Given the description of an element on the screen output the (x, y) to click on. 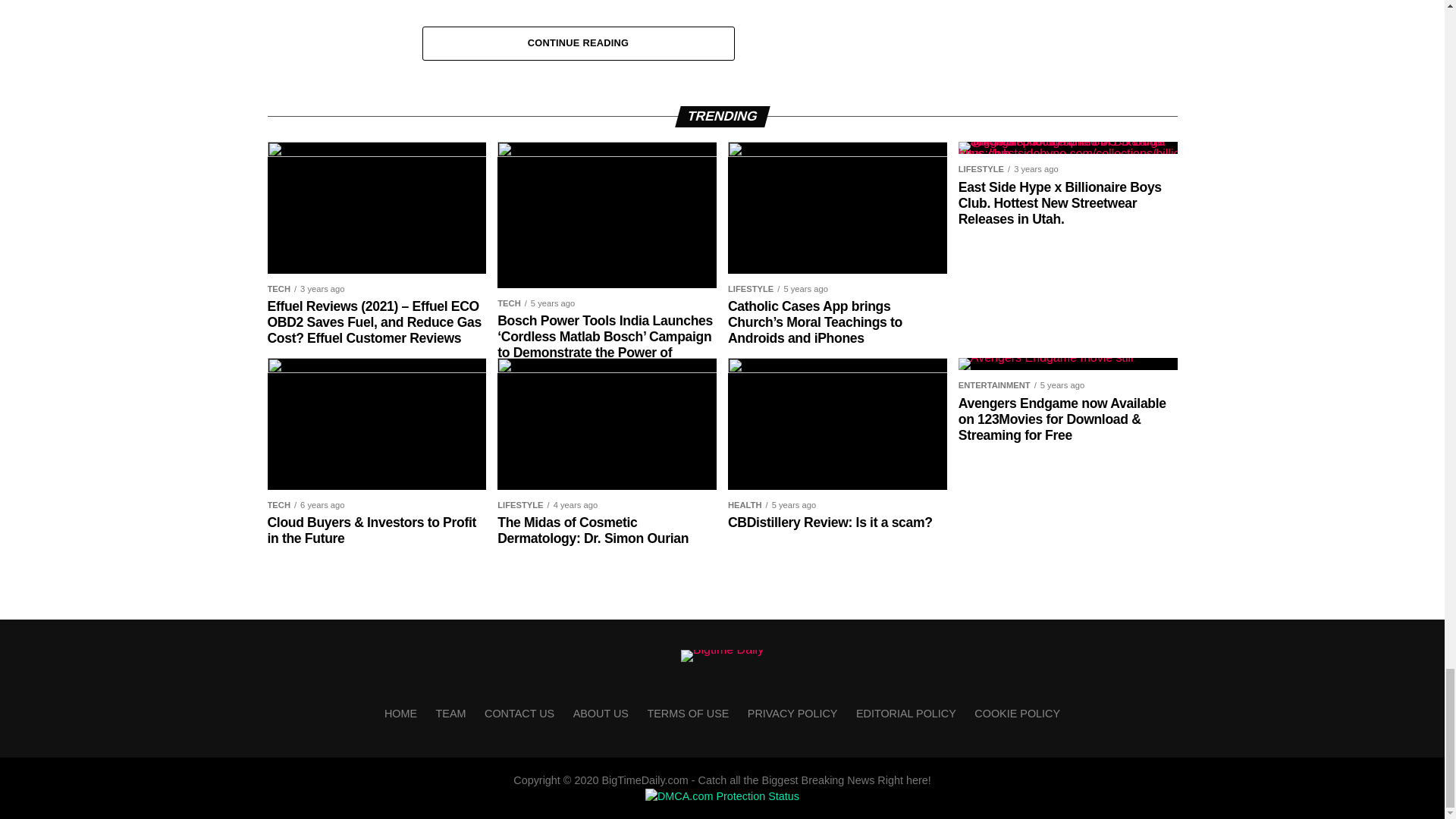
DMCA.com Protection Status (722, 796)
